Given the description of an element on the screen output the (x, y) to click on. 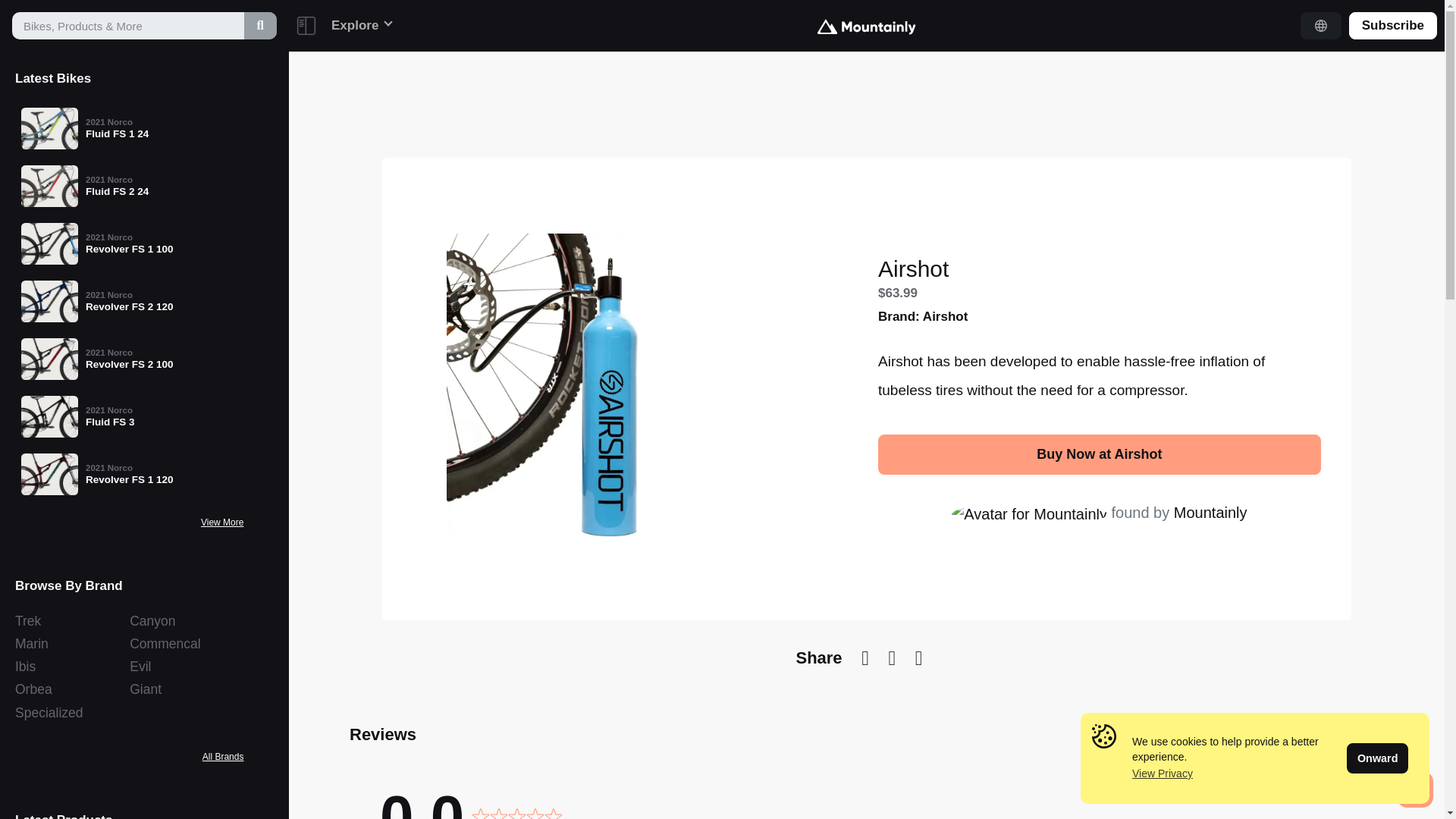
2021 Revolver FS 1 120 (129, 474)
Canyon (186, 620)
Ibis (129, 185)
Marin (71, 666)
2021 Fluid FS 2 24 (71, 643)
Evil (129, 185)
Specialized (129, 416)
Trek (186, 666)
All Brands (129, 712)
Mountainly Logo (71, 620)
Canyon (223, 756)
2021 Revolver FS 2 100 (865, 27)
